Given the description of an element on the screen output the (x, y) to click on. 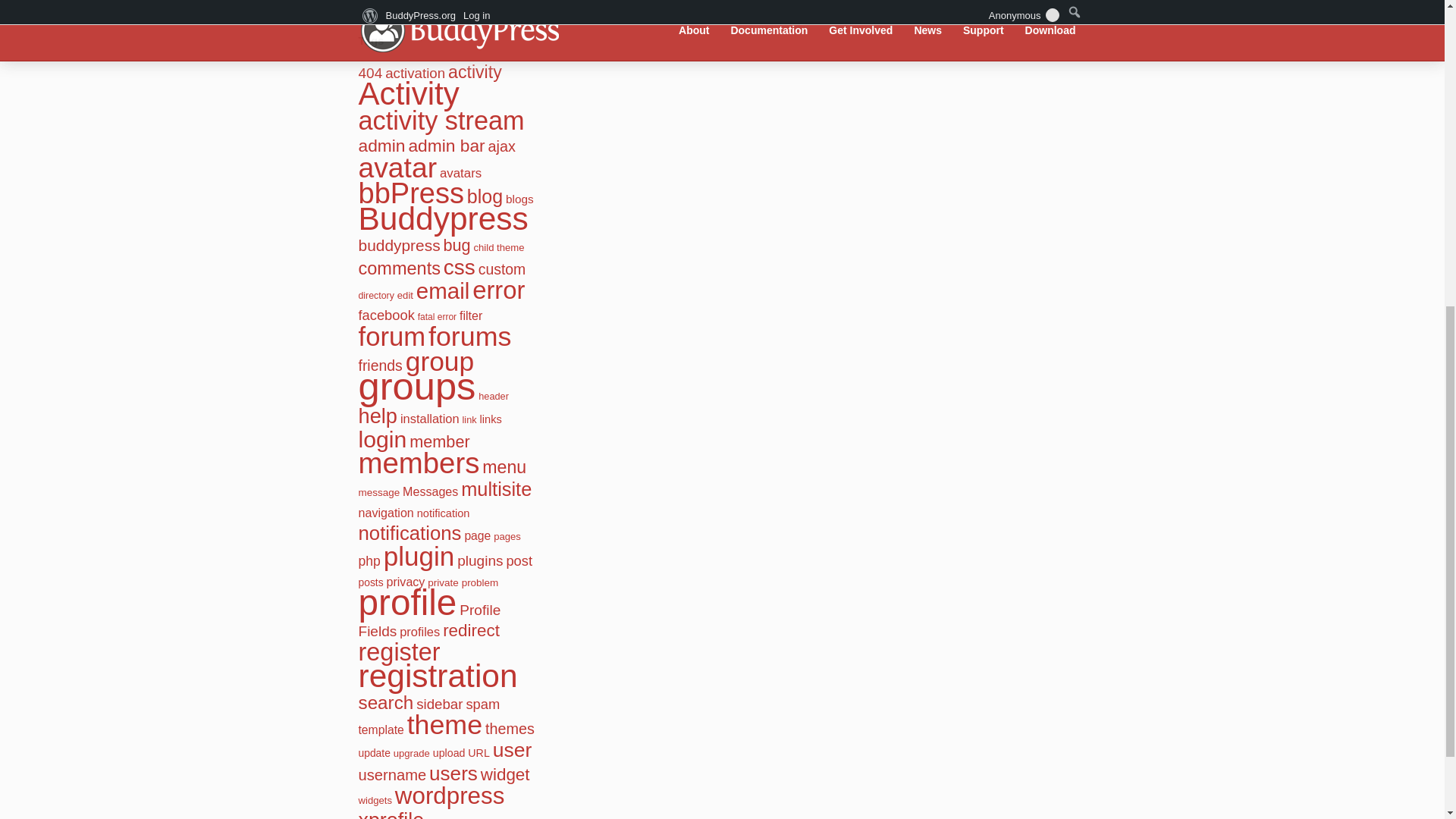
bbPress (410, 193)
All Recent Topics (414, 4)
avatar (397, 167)
activation (415, 73)
activity (475, 71)
avatars (460, 173)
Activity (408, 93)
admin (381, 145)
admin bar (445, 145)
ajax (501, 146)
404 (369, 73)
activity stream (441, 120)
blog (484, 196)
